Given the description of an element on the screen output the (x, y) to click on. 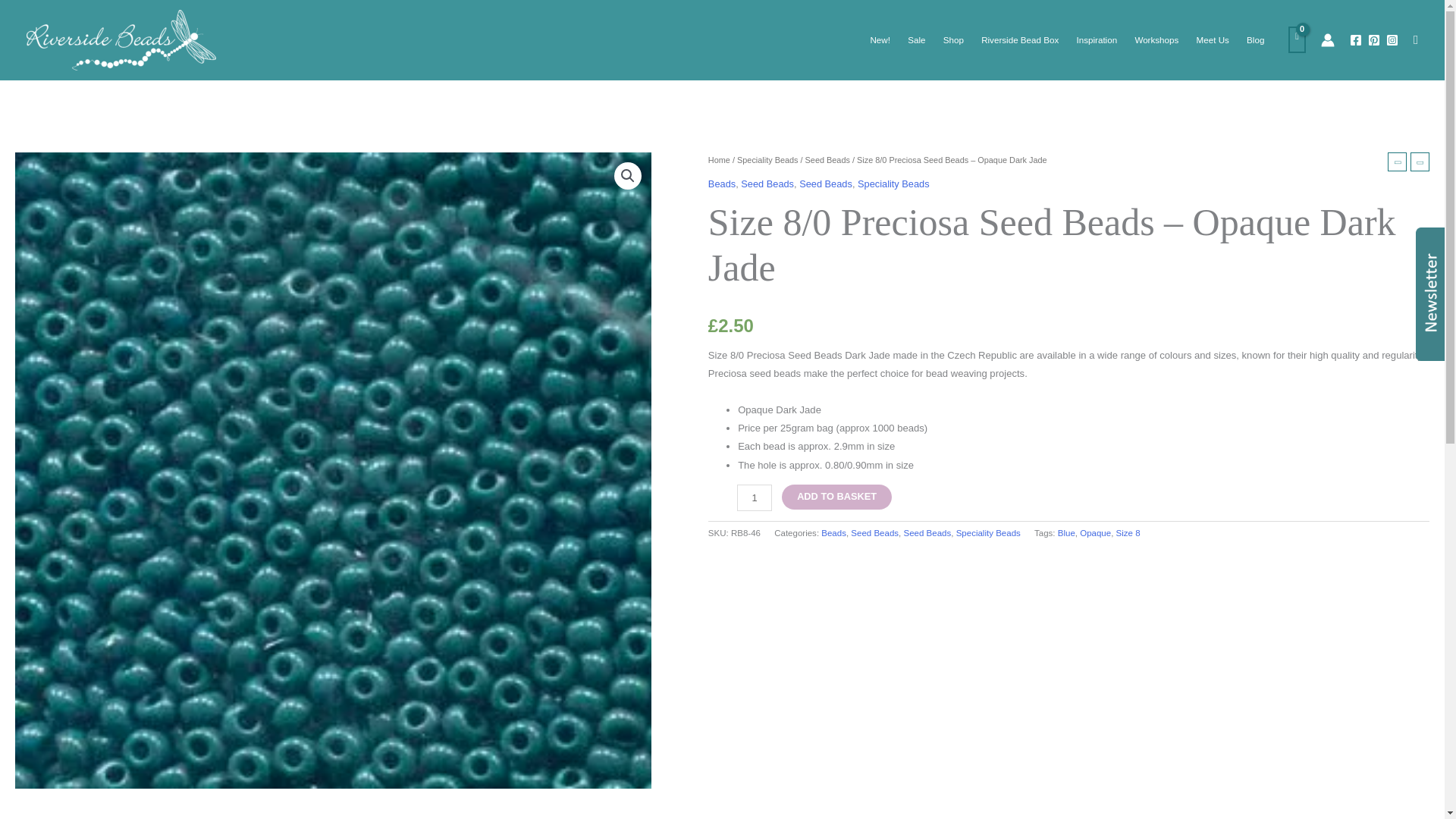
Workshops (1156, 39)
Riverside Bead Box (1019, 39)
Inspiration (1096, 39)
1 (753, 497)
Meet Us (1213, 39)
